Given the description of an element on the screen output the (x, y) to click on. 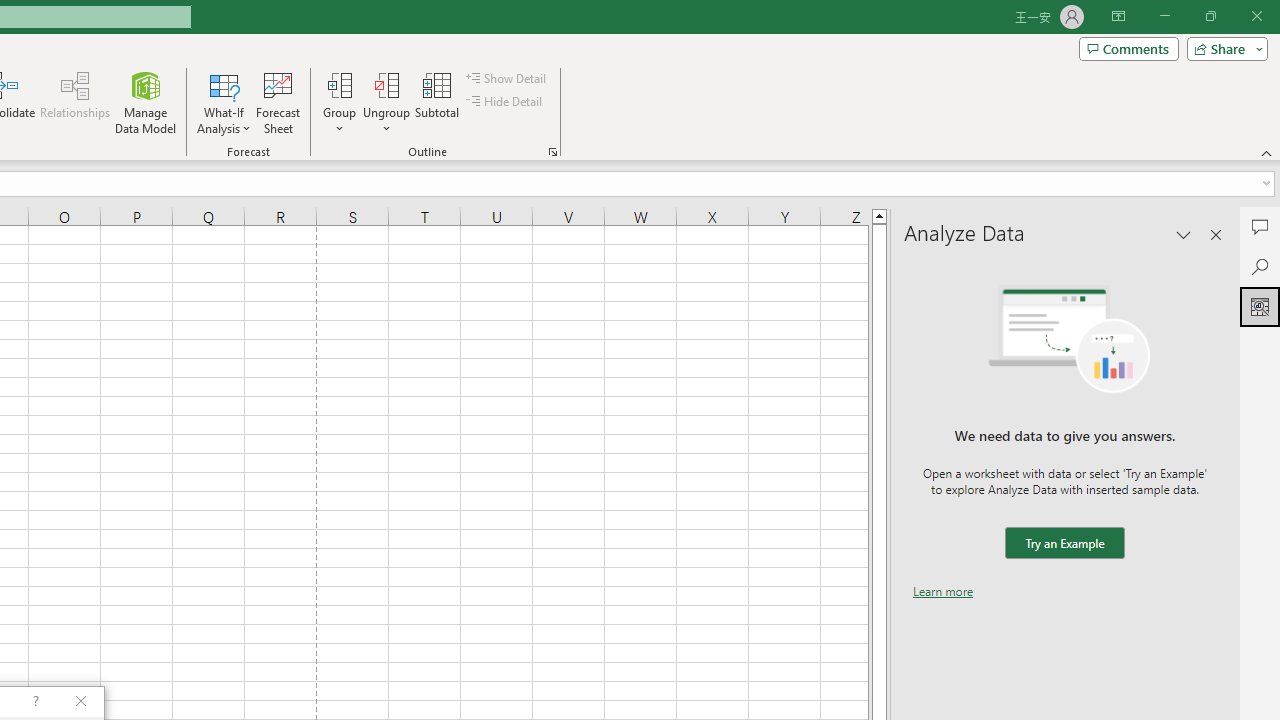
We need data to give you answers. Try an Example (1064, 543)
Forecast Sheet (278, 102)
Restore Down (1210, 16)
Manage Data Model (145, 102)
Collapse the Ribbon (1267, 152)
Comments (1128, 48)
Ungroup... (386, 84)
Analyze Data (1260, 306)
Relationships (75, 102)
Share (1223, 48)
Hide Detail (505, 101)
Task Pane Options (1183, 234)
Group and Outline Settings (552, 151)
